Given the description of an element on the screen output the (x, y) to click on. 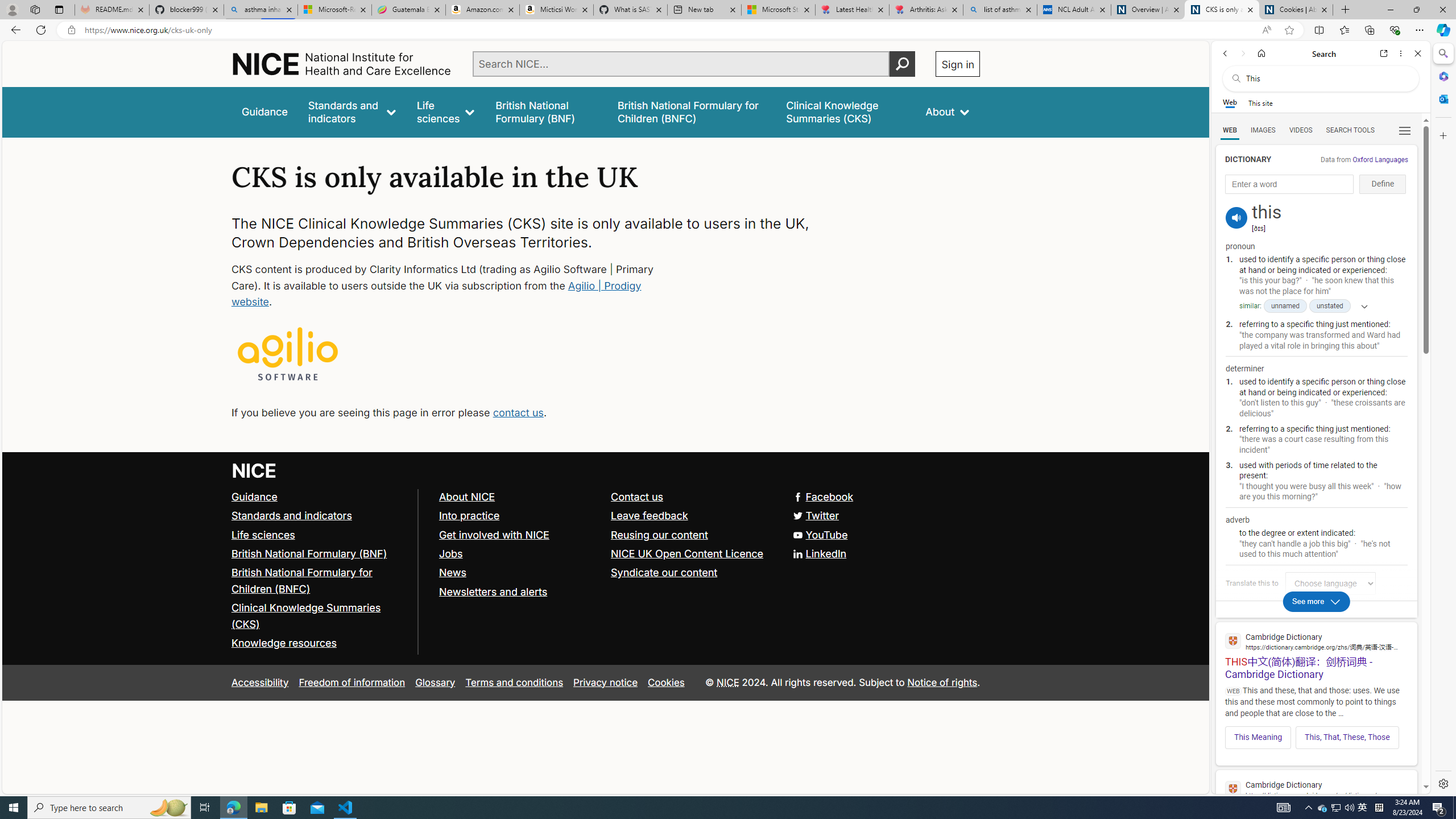
Contact us (637, 496)
Facebook (823, 496)
Guidance (254, 496)
View site information (70, 29)
Cookies (665, 682)
Arthritis: Ask Health Professionals (925, 9)
Cookies (665, 682)
Browser essentials (1394, 29)
Glossary (434, 682)
Translate this to Choose language (1329, 582)
Go to NICE home page (253, 470)
unnamed (1285, 305)
